Given the description of an element on the screen output the (x, y) to click on. 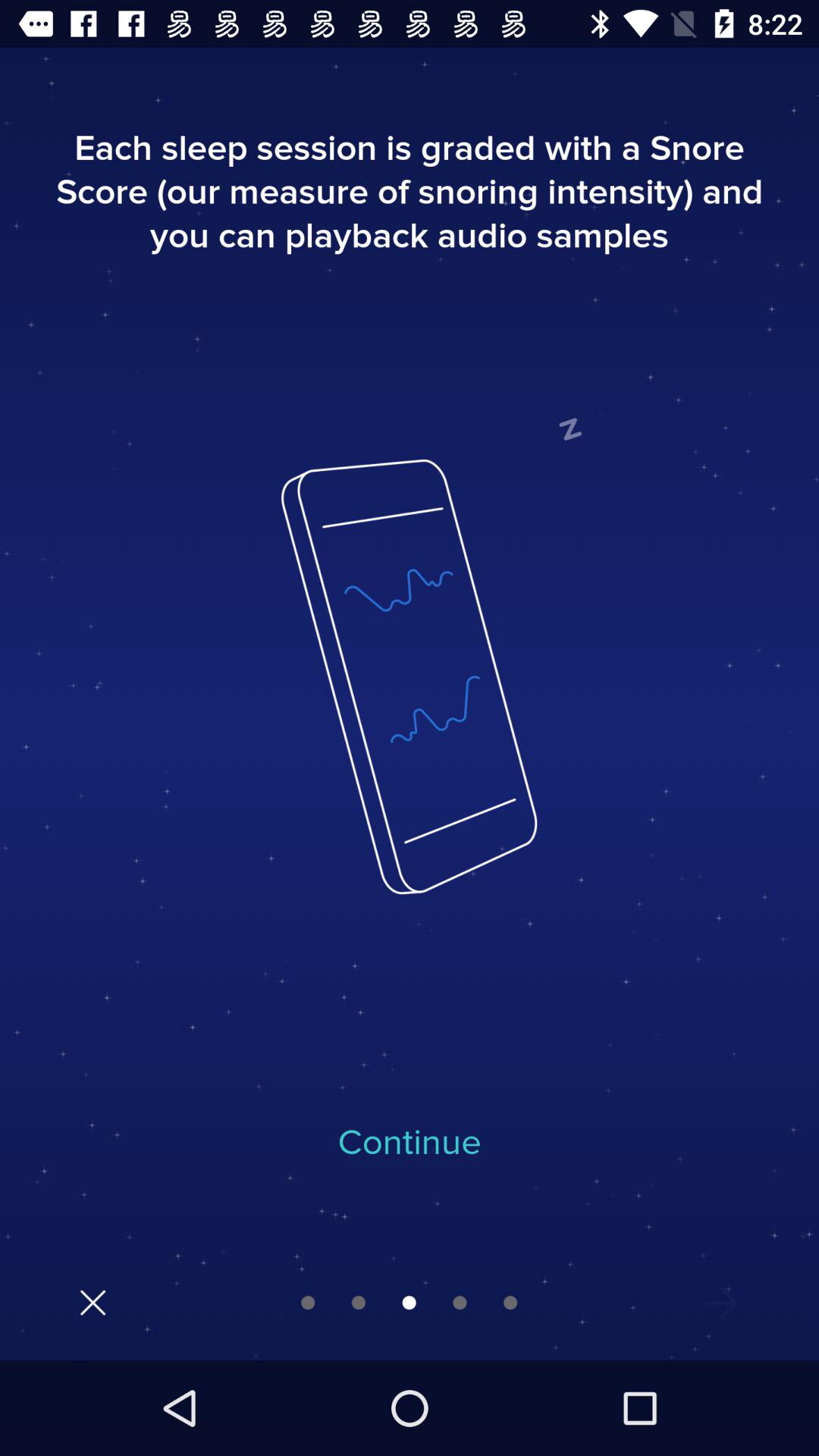
flip until continue button (409, 1142)
